Given the description of an element on the screen output the (x, y) to click on. 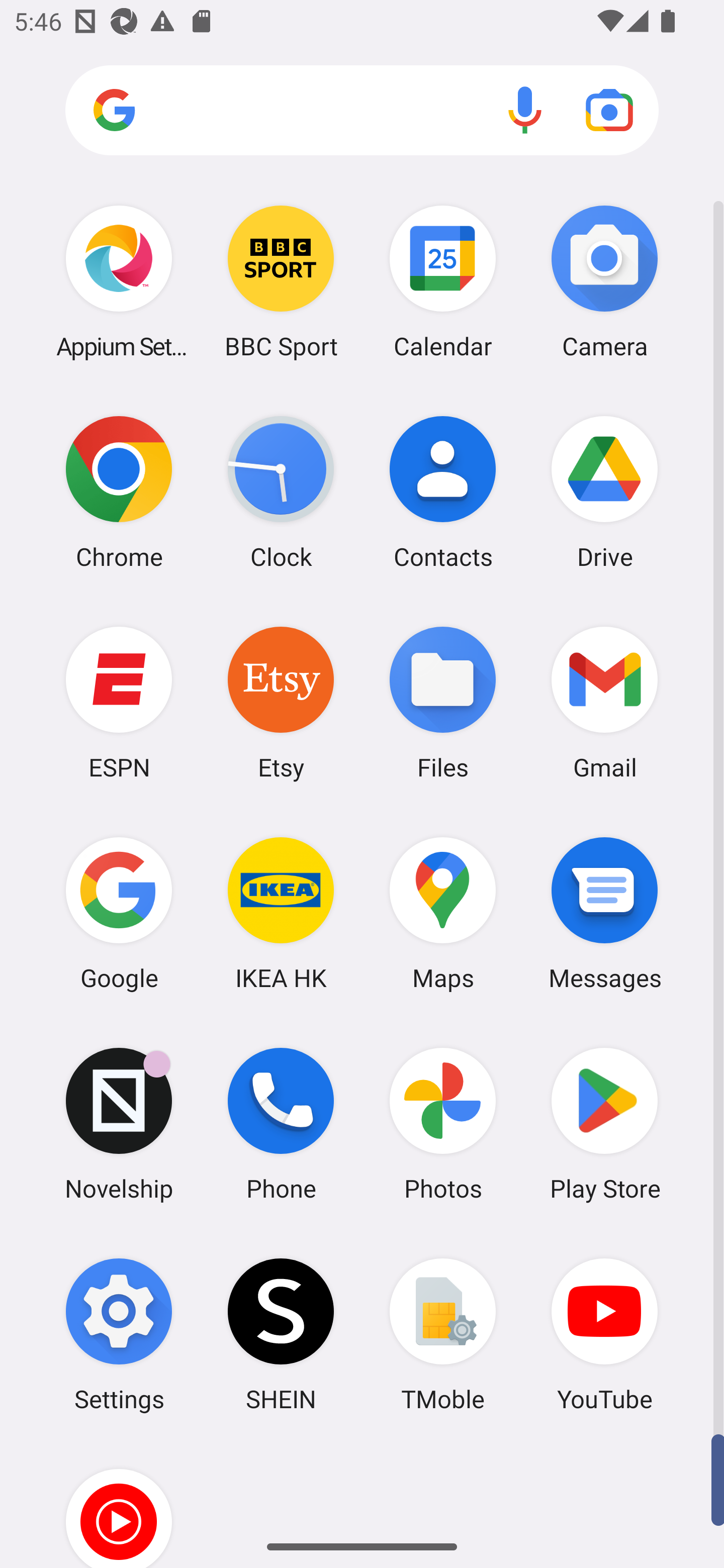
Search apps, web and more (361, 110)
Voice search (524, 109)
Google Lens (608, 109)
Appium Settings (118, 281)
BBC Sport (280, 281)
Calendar (443, 281)
Camera (604, 281)
Chrome (118, 492)
Clock (280, 492)
Contacts (443, 492)
Drive (604, 492)
ESPN (118, 702)
Etsy (280, 702)
Files (443, 702)
Gmail (604, 702)
Google (118, 913)
IKEA HK (280, 913)
Maps (443, 913)
Messages (604, 913)
Novelship Novelship has 1 notification (118, 1124)
Phone (280, 1124)
Photos (443, 1124)
Play Store (604, 1124)
Settings (118, 1334)
SHEIN (280, 1334)
TMoble (443, 1334)
YouTube (604, 1334)
YT Music (118, 1503)
